Given the description of an element on the screen output the (x, y) to click on. 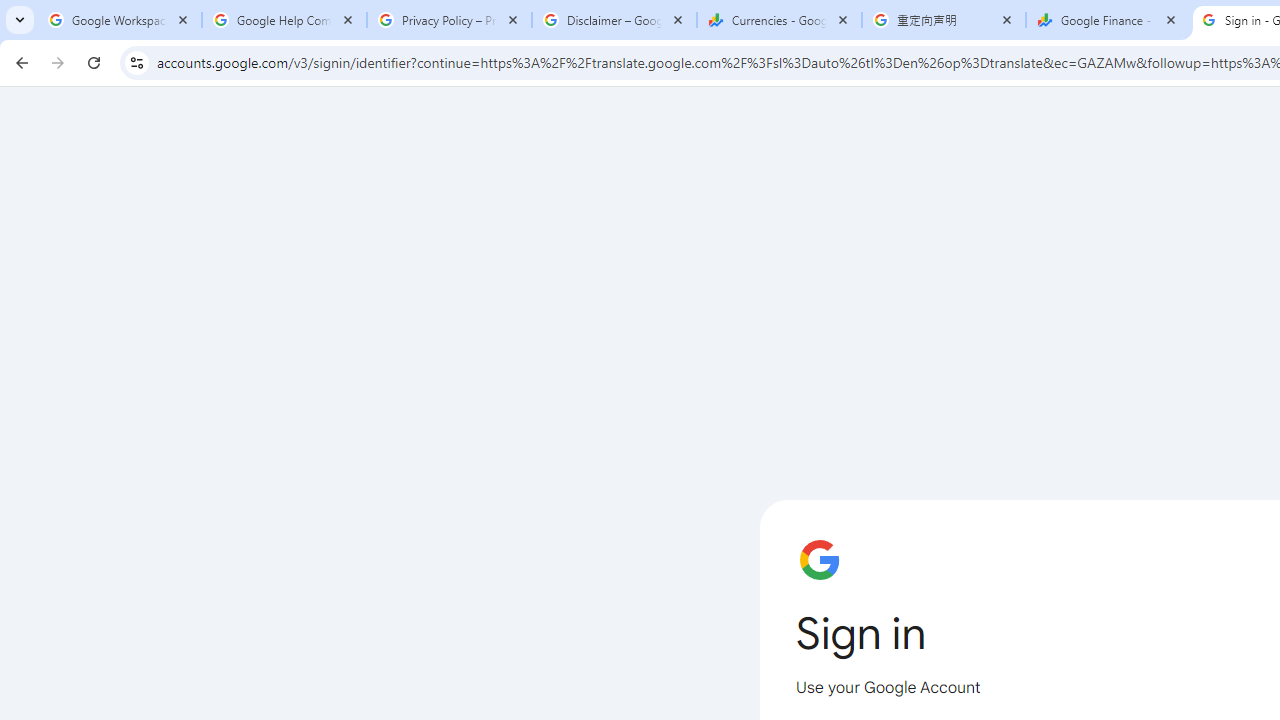
Google Workspace Admin Community (119, 20)
Currencies - Google Finance (779, 20)
